Given the description of an element on the screen output the (x, y) to click on. 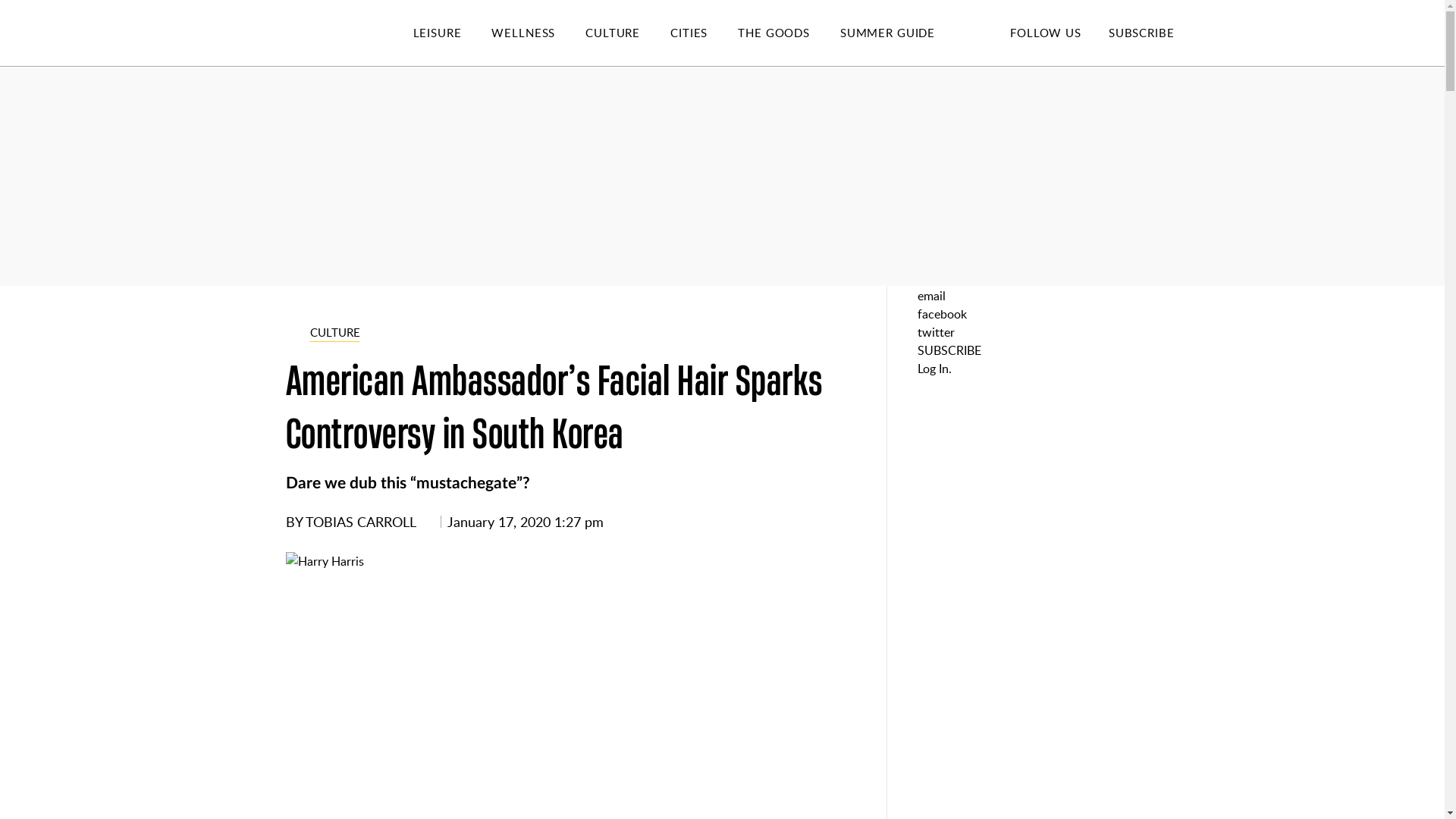
THE GOODS (789, 32)
WELLNESS (538, 32)
CULTURE (627, 32)
SUBSCRIBE (1141, 31)
SUMMER GUIDE (902, 32)
FOLLOW US (1045, 32)
CITIES (703, 32)
LEISURE (452, 32)
